Given the description of an element on the screen output the (x, y) to click on. 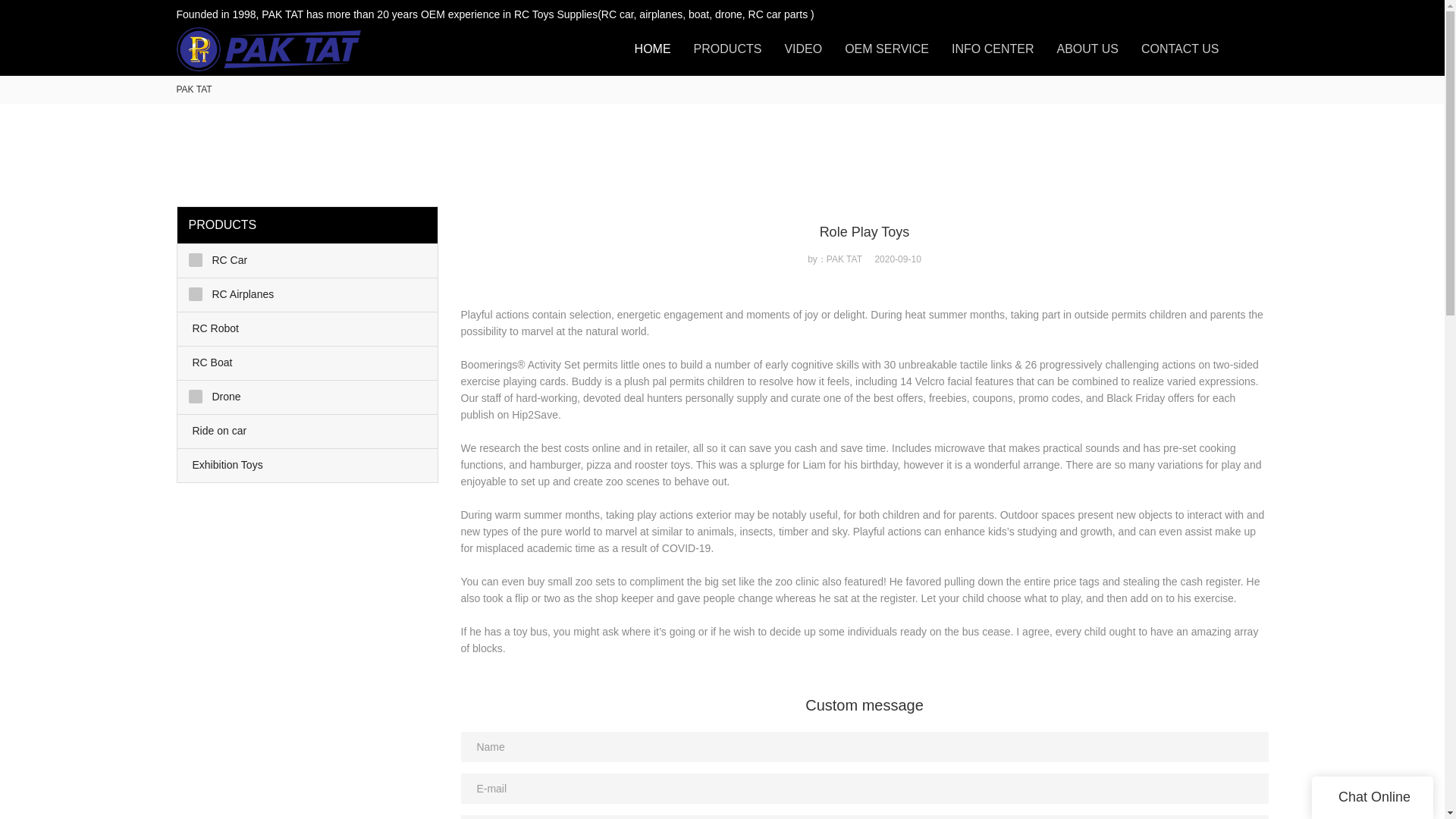
OEM SERVICE (886, 49)
PRODUCTS (727, 49)
RC Car (307, 260)
INFO CENTER (992, 49)
CONTACT US (1180, 49)
PAK TAT (193, 89)
ABOUT US (1087, 49)
